Given the description of an element on the screen output the (x, y) to click on. 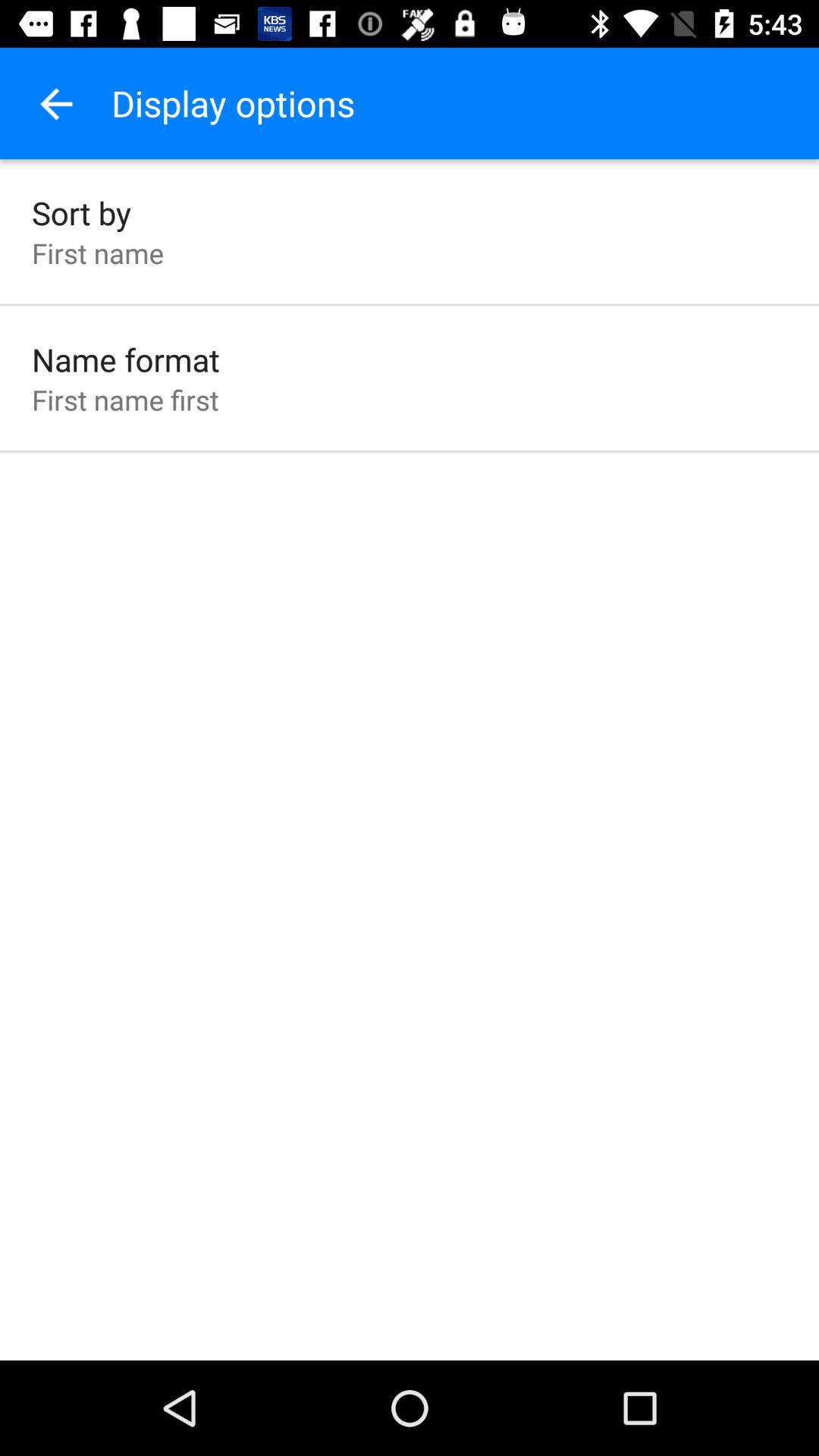
scroll to sort by item (81, 212)
